Given the description of an element on the screen output the (x, y) to click on. 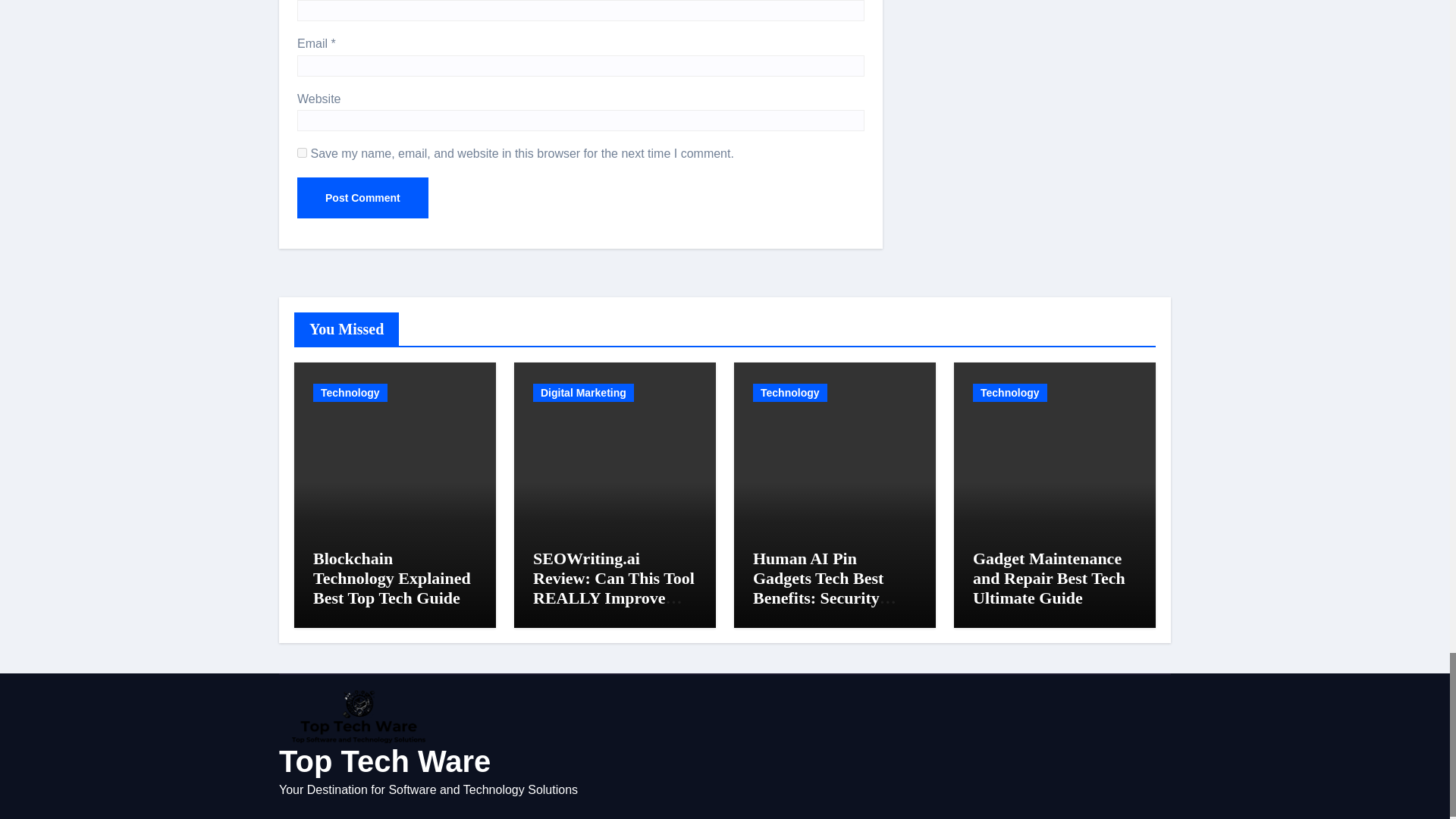
yes (302, 153)
Post Comment (362, 197)
